Given the description of an element on the screen output the (x, y) to click on. 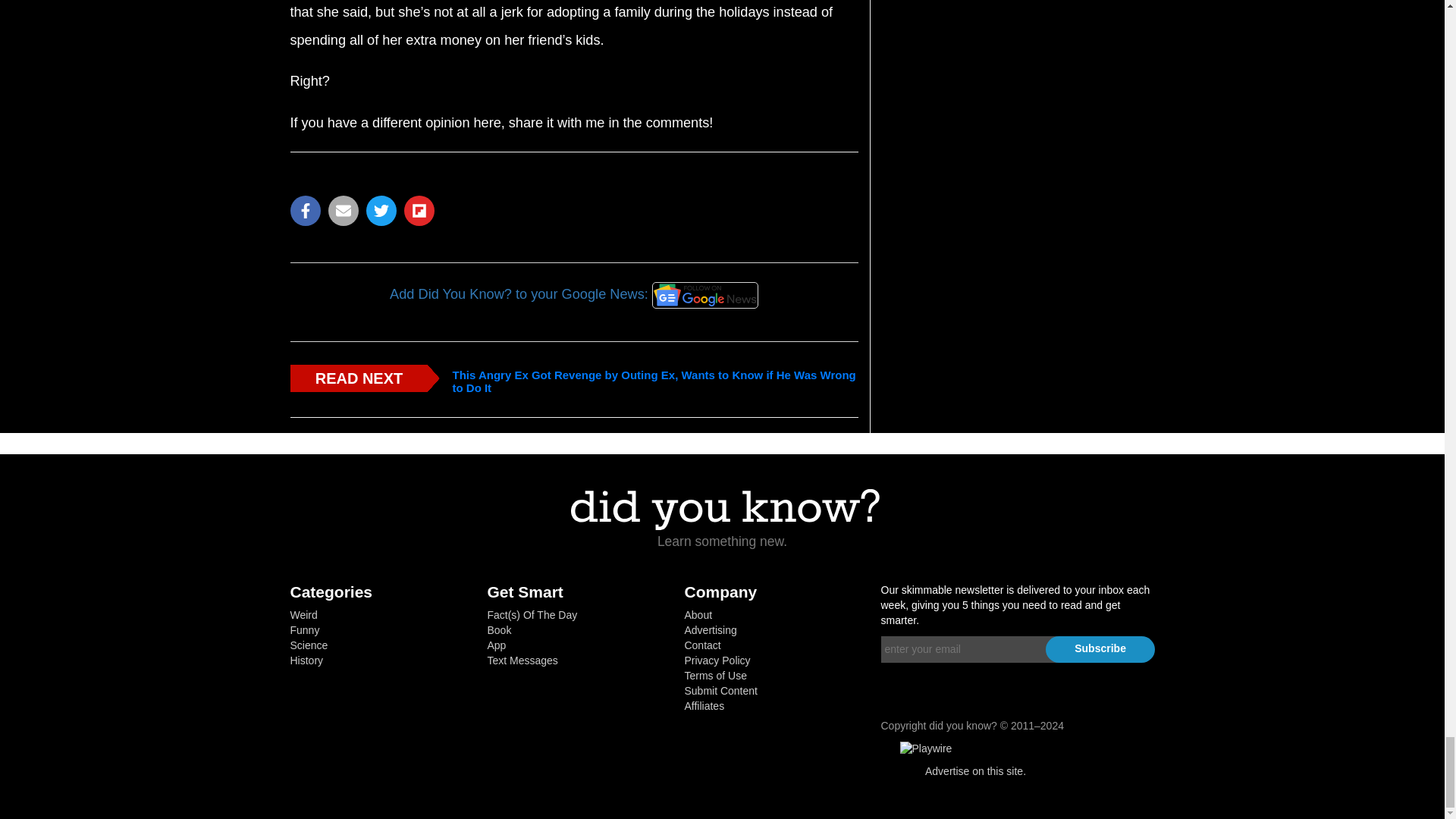
Google News (705, 294)
Subscribe (1100, 649)
